Given the description of an element on the screen output the (x, y) to click on. 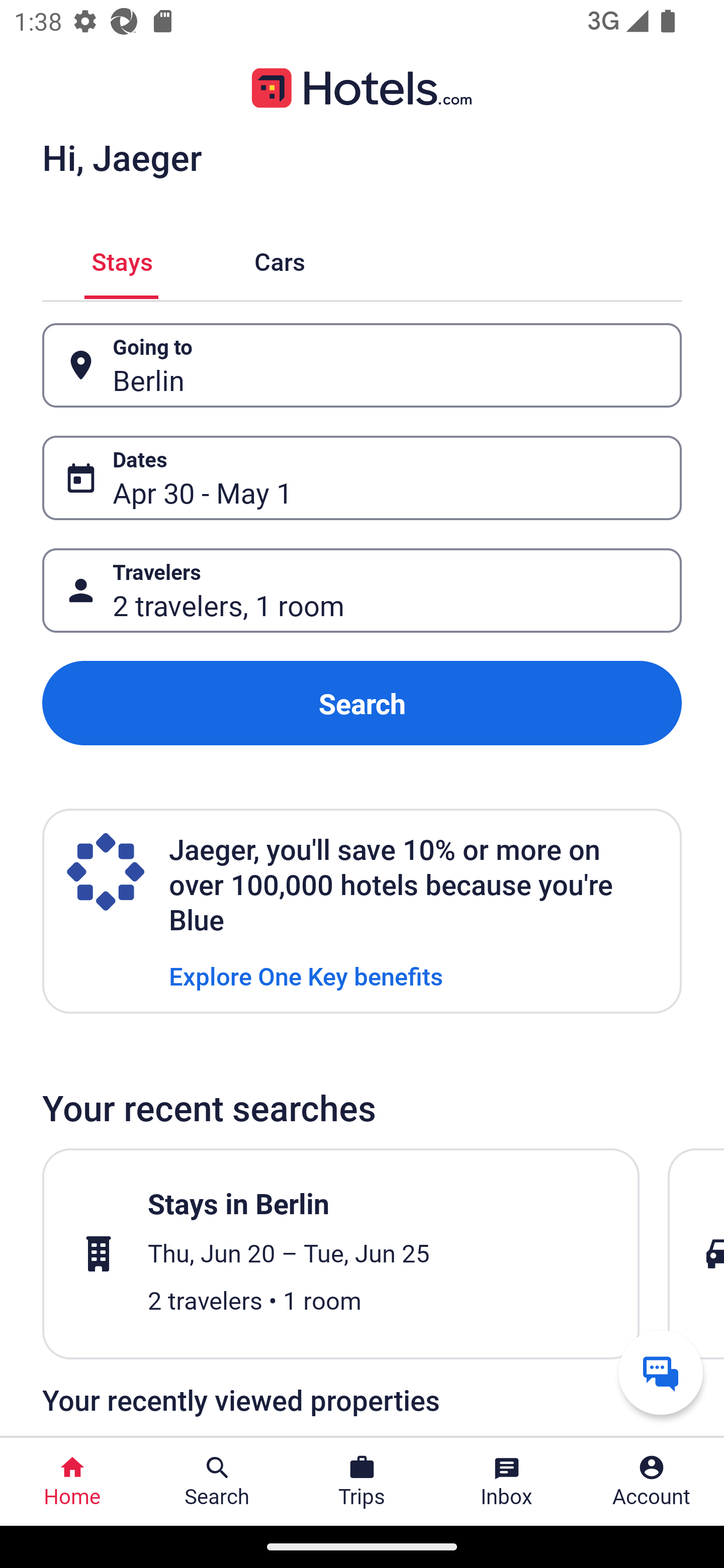
Hi, Jaeger (121, 156)
Cars (279, 259)
Going to Button Berlin (361, 365)
Dates Button Apr 30 - May 1 (361, 477)
Travelers Button 2 travelers, 1 room (361, 590)
Search (361, 702)
Get help from a virtual agent (660, 1371)
Search Search Button (216, 1481)
Trips Trips Button (361, 1481)
Inbox Inbox Button (506, 1481)
Account Profile. Button (651, 1481)
